Given the description of an element on the screen output the (x, y) to click on. 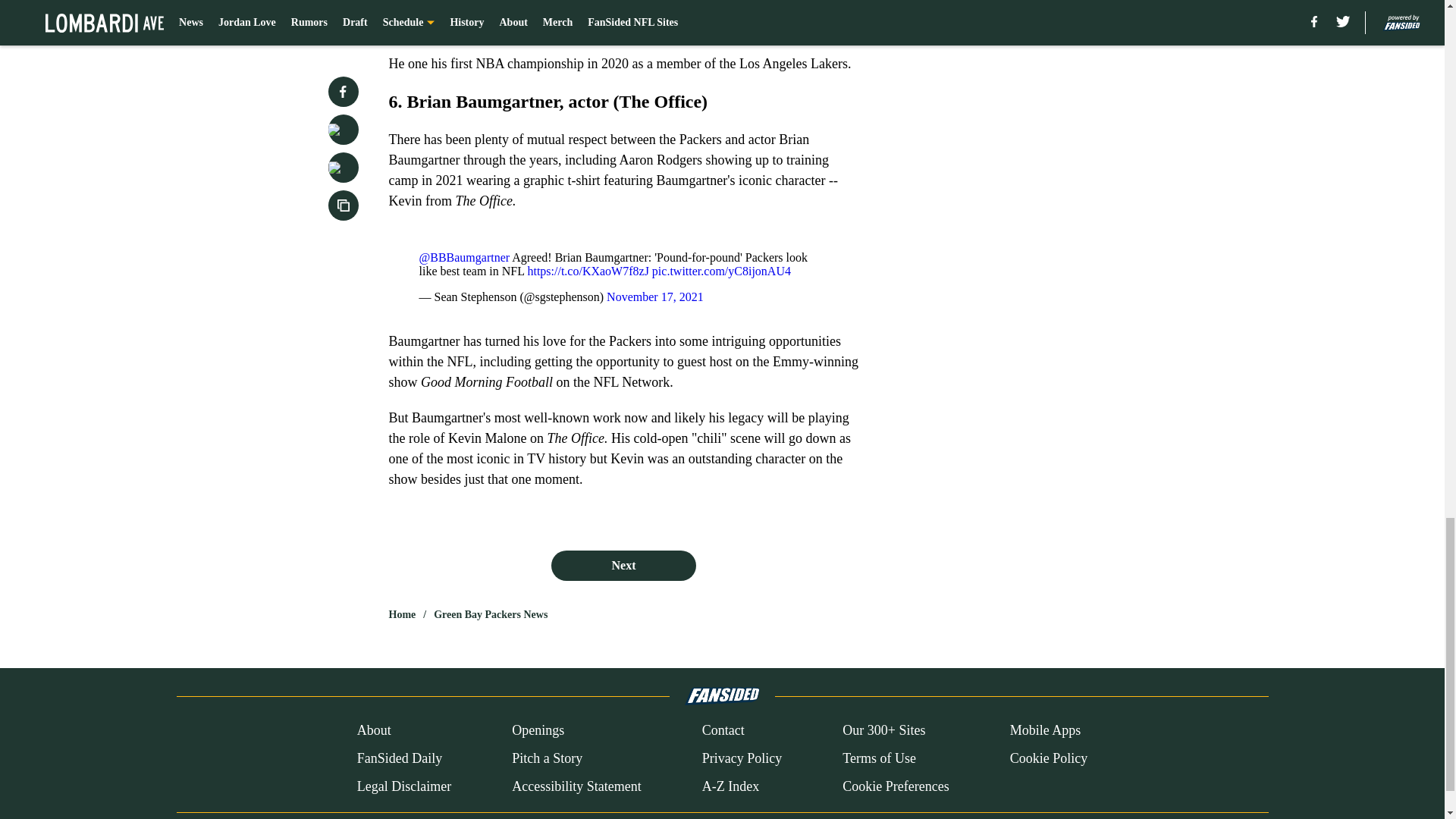
Green Bay Packers News (490, 614)
Next (622, 565)
Contact (722, 730)
Openings (538, 730)
Pitch a Story (547, 758)
FanSided Daily (399, 758)
About (373, 730)
November 17, 2021 (655, 296)
Mobile Apps (1045, 730)
Home (401, 614)
